Given the description of an element on the screen output the (x, y) to click on. 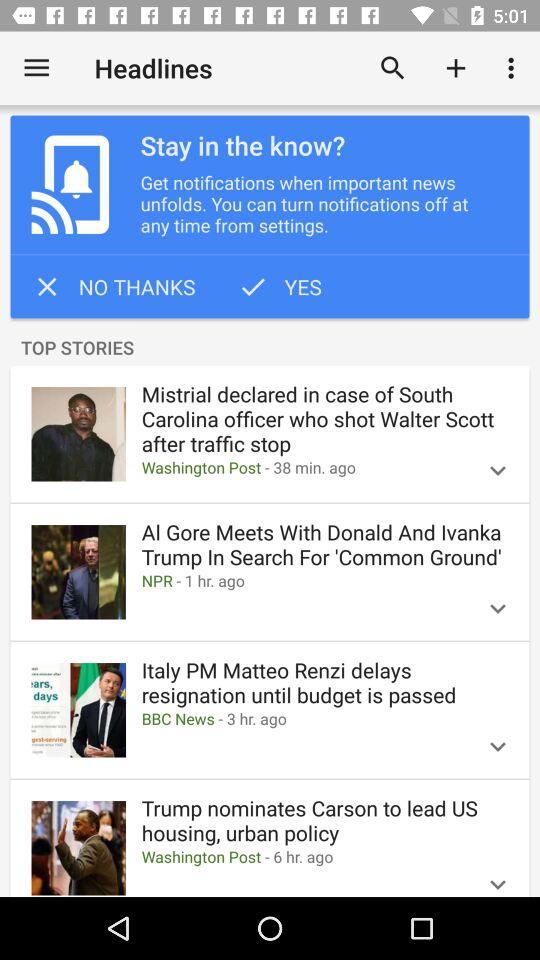
swipe to italy pm matteo (324, 682)
